Given the description of an element on the screen output the (x, y) to click on. 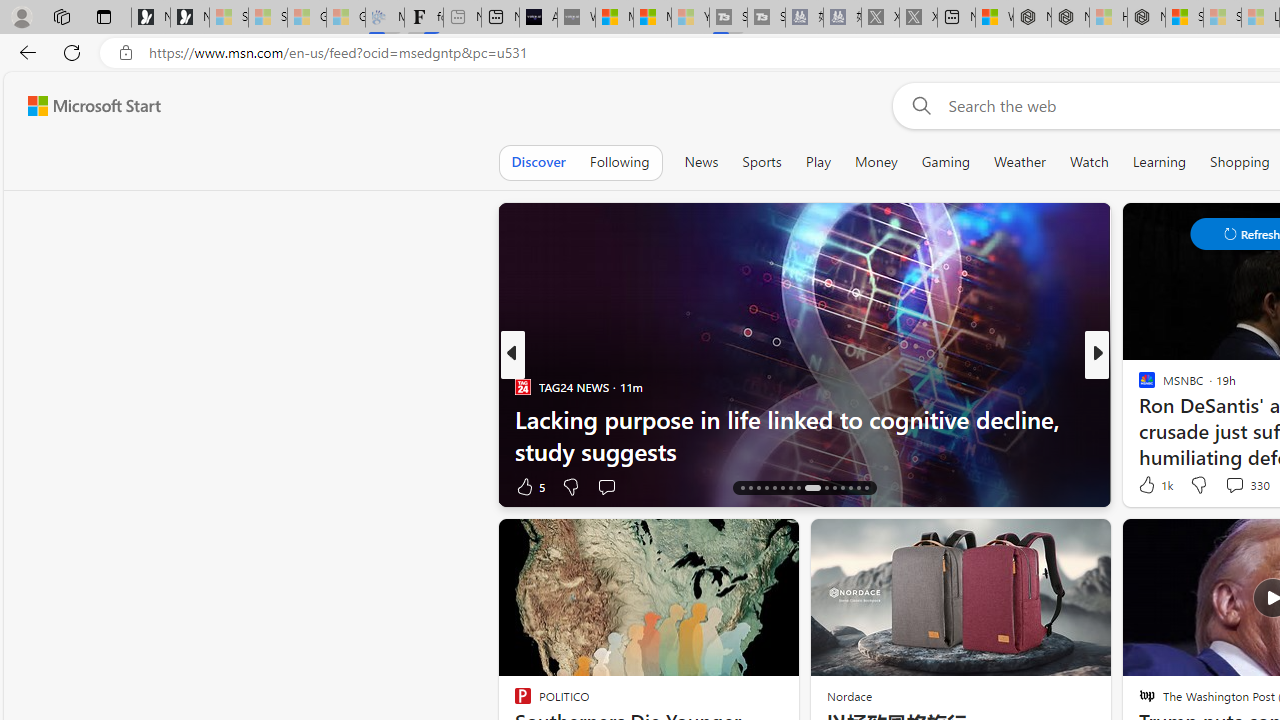
This story is trending (449, 490)
5 Like (528, 486)
AutomationID: tab-26 (833, 487)
Business Insider (1138, 386)
Web search (917, 105)
View comments 152 Comment (11, 485)
Newsweek (1138, 386)
You're following FOX News (445, 490)
